Given the description of an element on the screen output the (x, y) to click on. 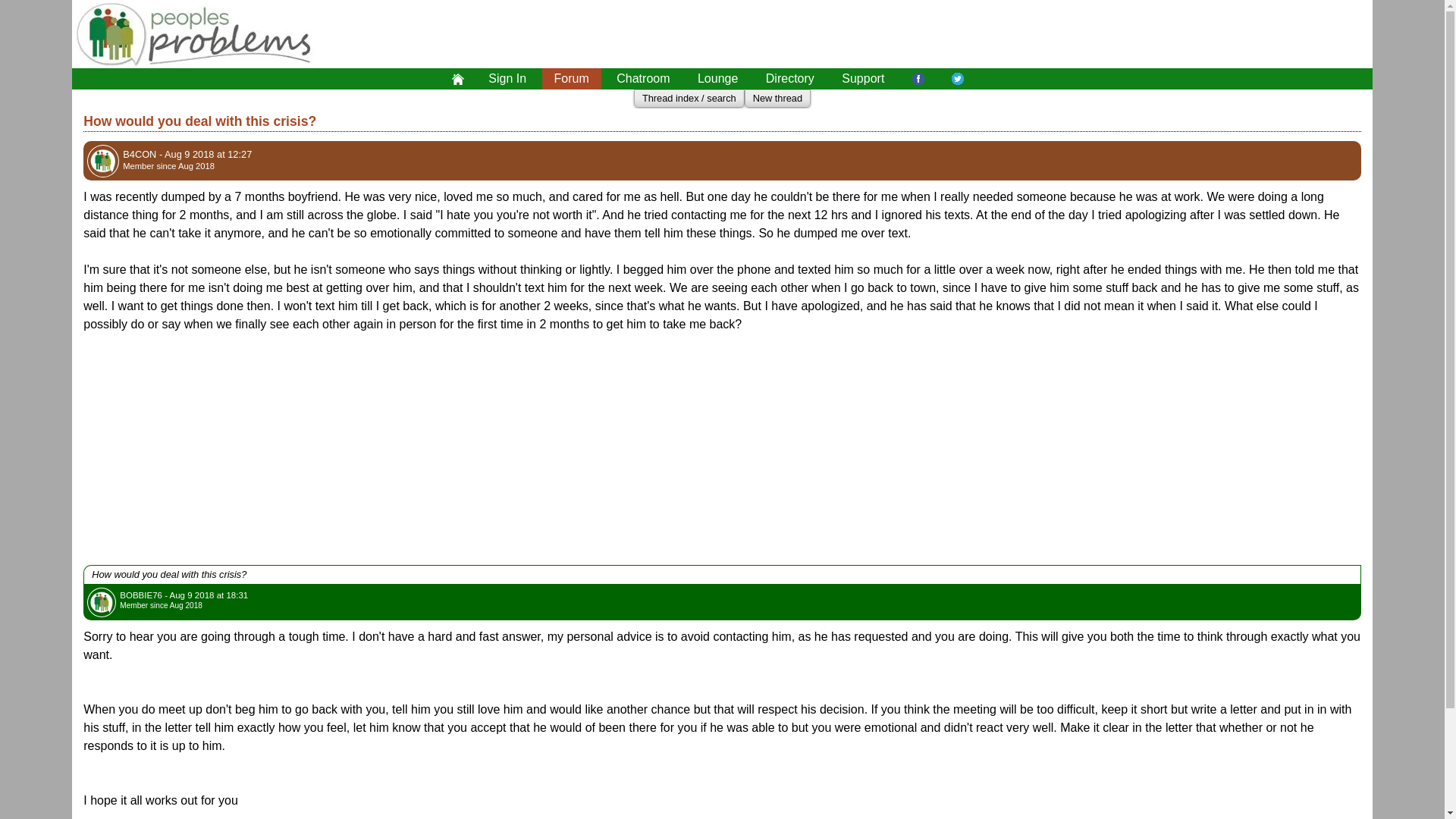
Lounge (717, 78)
Support (862, 78)
Sign In (507, 78)
Directory (790, 78)
Advertisement (939, 33)
Forum (571, 78)
Chatroom (642, 78)
New thread (777, 98)
